Given the description of an element on the screen output the (x, y) to click on. 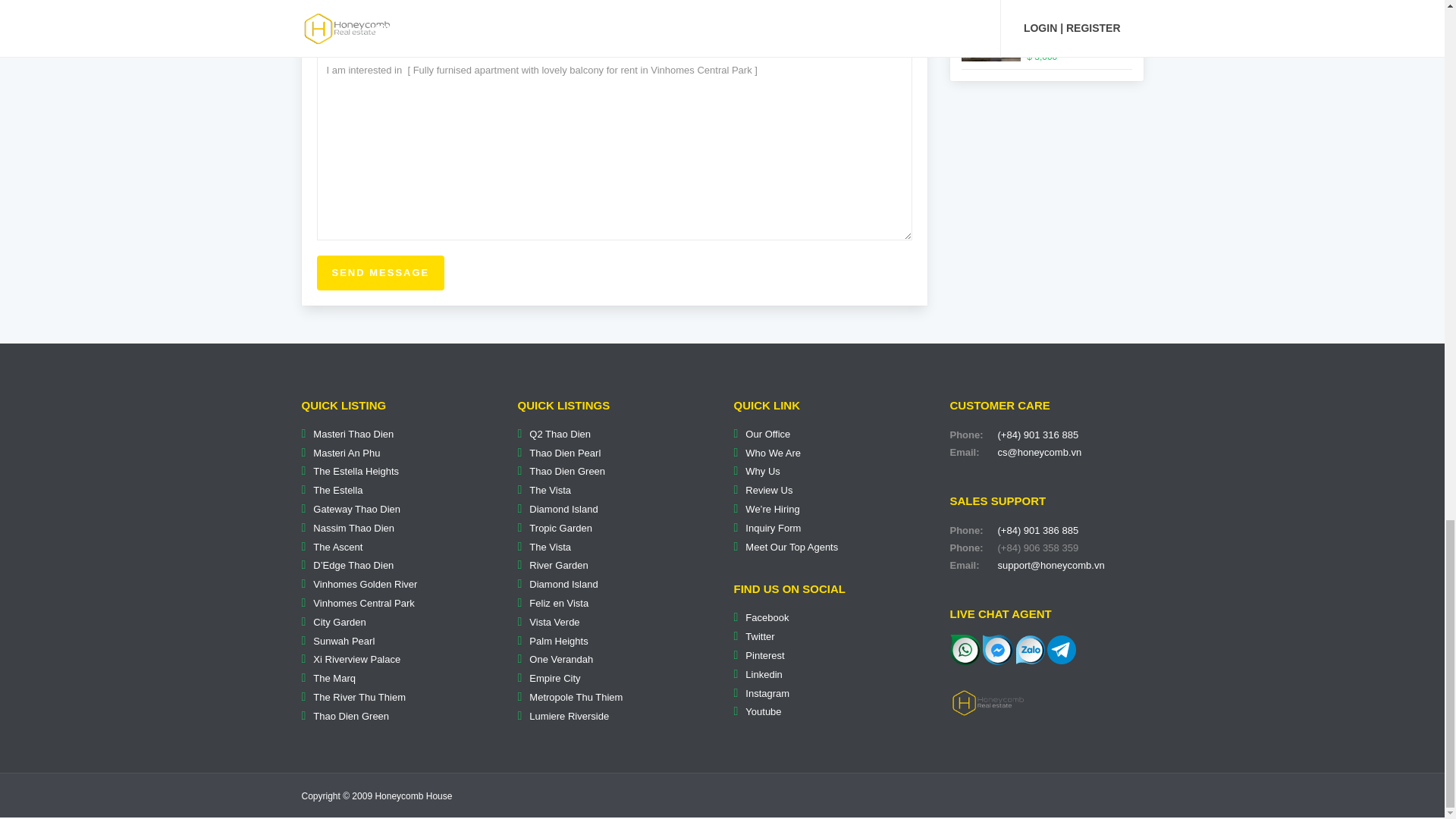
Telegram (1060, 648)
Zalo (1030, 648)
Zalo (1030, 649)
Telegram (1060, 649)
Send Message (381, 272)
Send Message (381, 272)
WhatsApp (964, 649)
Messenger (997, 649)
WhatsApp (964, 648)
Messenger (997, 648)
